Given the description of an element on the screen output the (x, y) to click on. 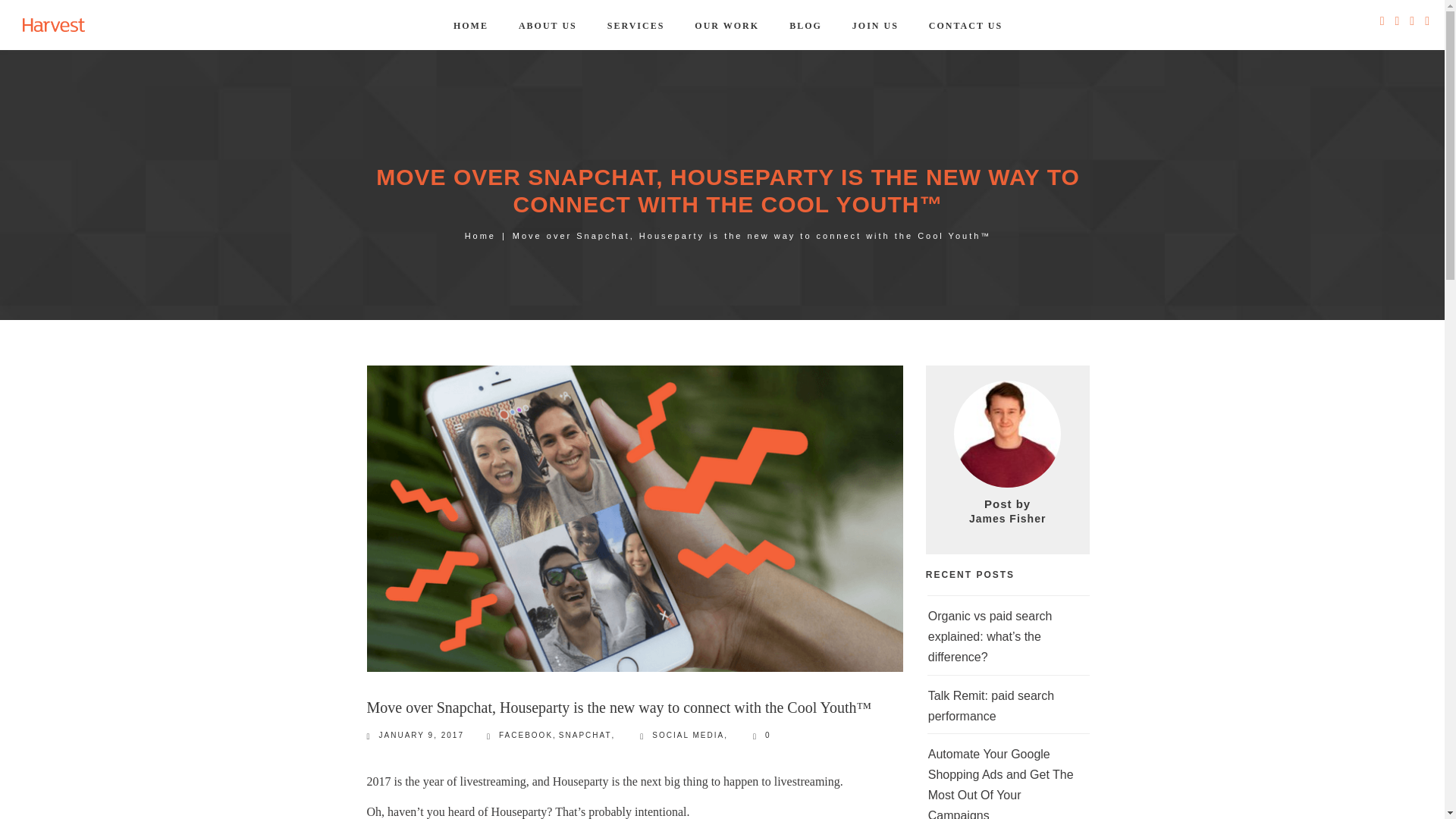
ABOUT US (547, 25)
Join Us (874, 25)
Contact Us (965, 25)
BLOG (805, 25)
Blog (805, 25)
Services (636, 25)
About Us (547, 25)
SERVICES (636, 25)
Our Work (726, 25)
FACEBOOK (526, 735)
